Given the description of an element on the screen output the (x, y) to click on. 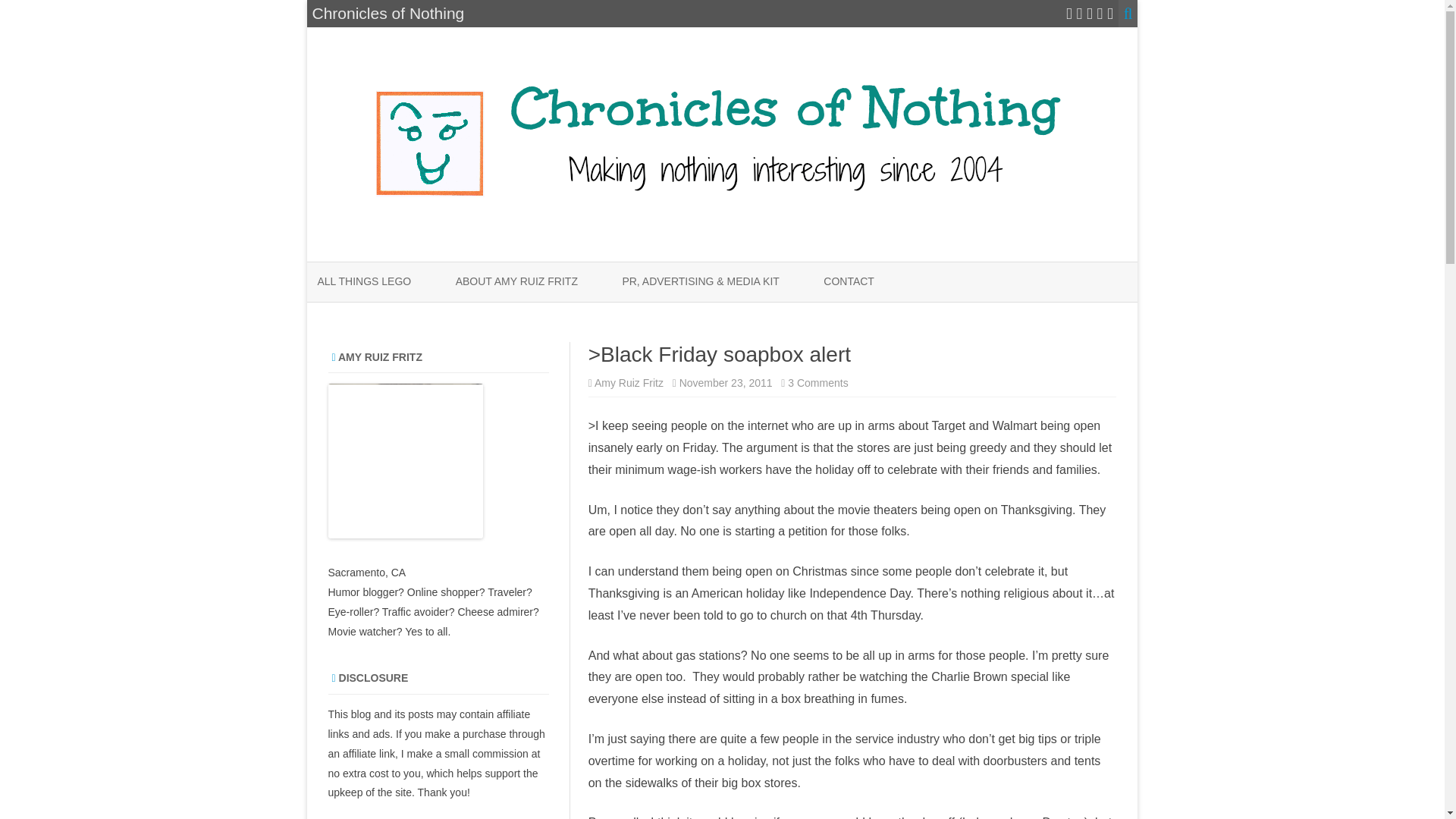
CONTACT (849, 282)
ALL THINGS LEGO (363, 282)
ABOUT AMY RUIZ FRITZ (516, 282)
Amy Ruiz Fritz (628, 382)
